Given the description of an element on the screen output the (x, y) to click on. 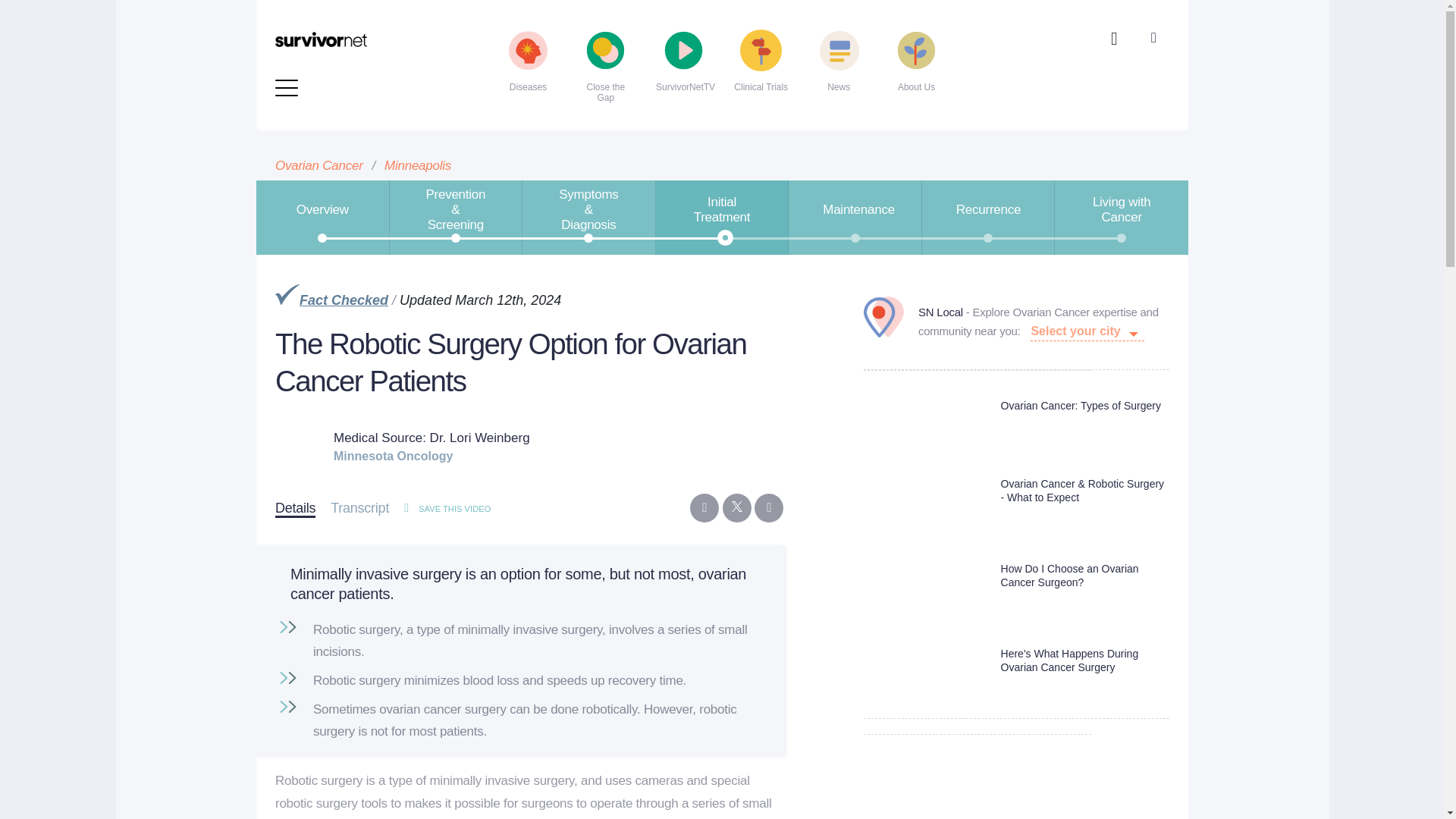
Heart Failure (364, 28)
Liver Cancer (364, 78)
Psoriasis (661, 52)
Ovarian Cancer (661, 7)
Prostate Cancer (661, 28)
Esophageal Cancer (364, 7)
